Given the description of an element on the screen output the (x, y) to click on. 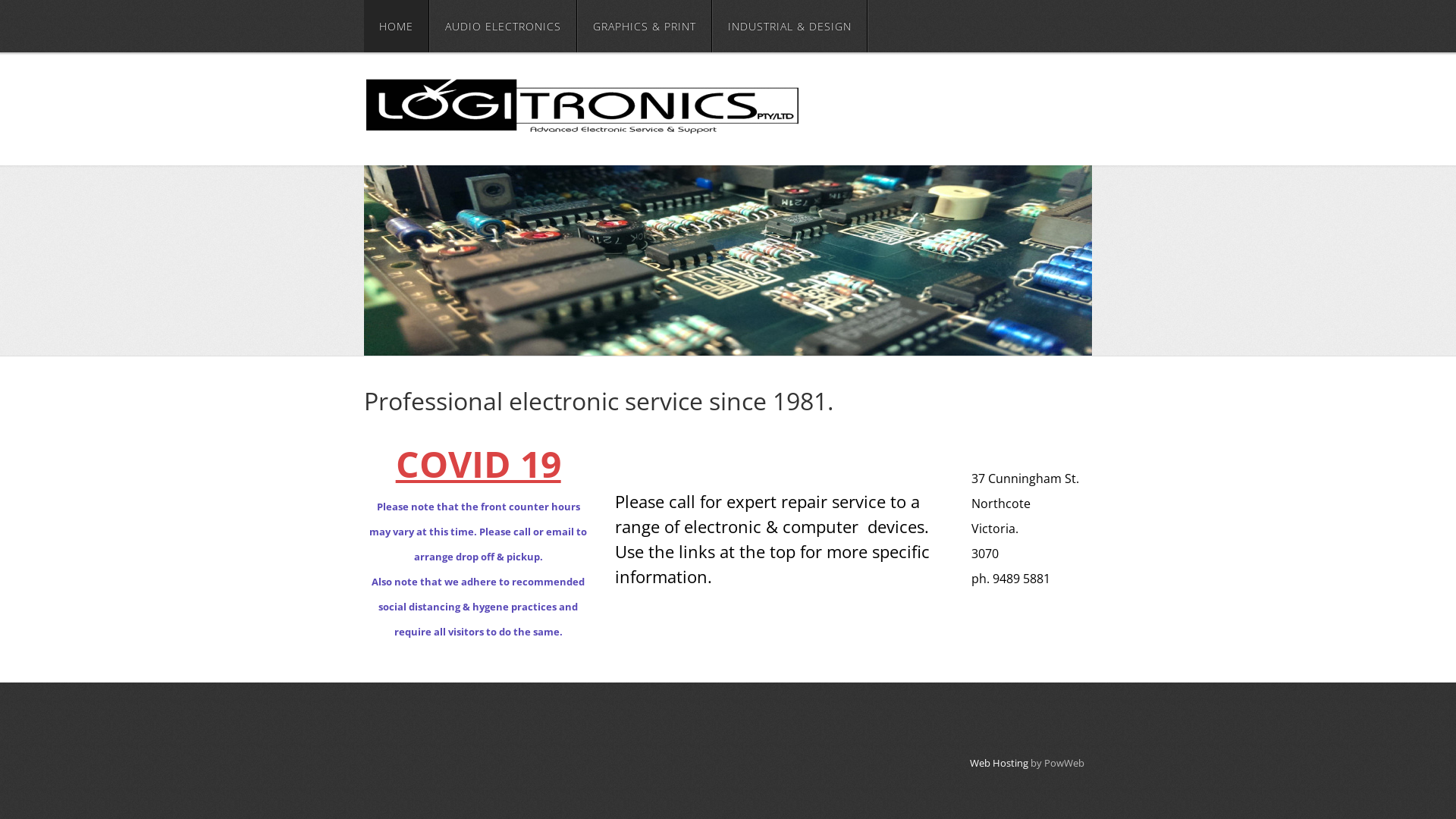
Web Hosting Element type: text (998, 762)
INDUSTRIAL & DESIGN Element type: text (789, 26)
AUDIO ELECTRONICS Element type: text (502, 26)
GRAPHICS & PRINT Element type: text (644, 26)
HOME Element type: text (396, 26)
